Given the description of an element on the screen output the (x, y) to click on. 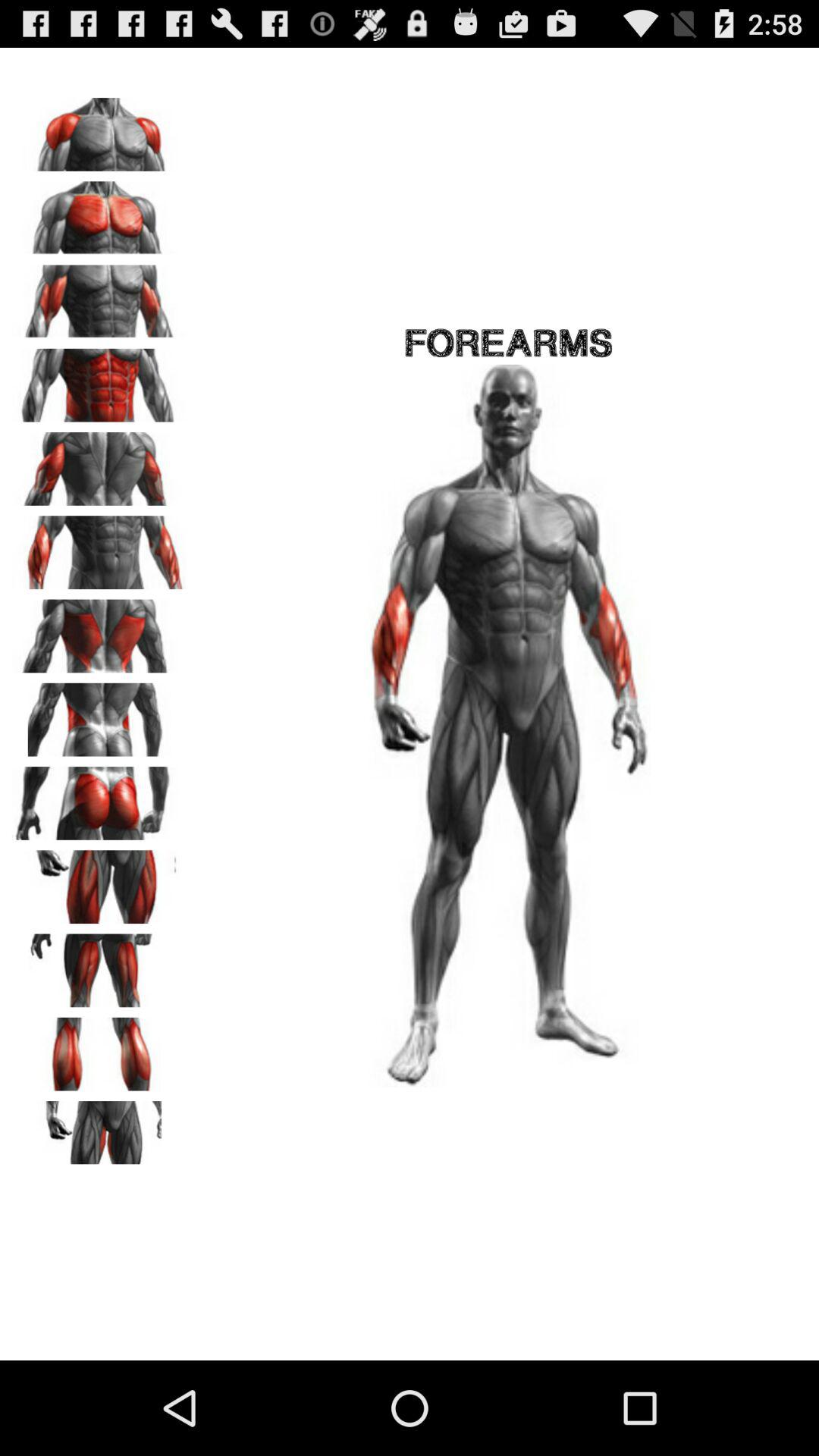
view specific body exercises (99, 463)
